Given the description of an element on the screen output the (x, y) to click on. 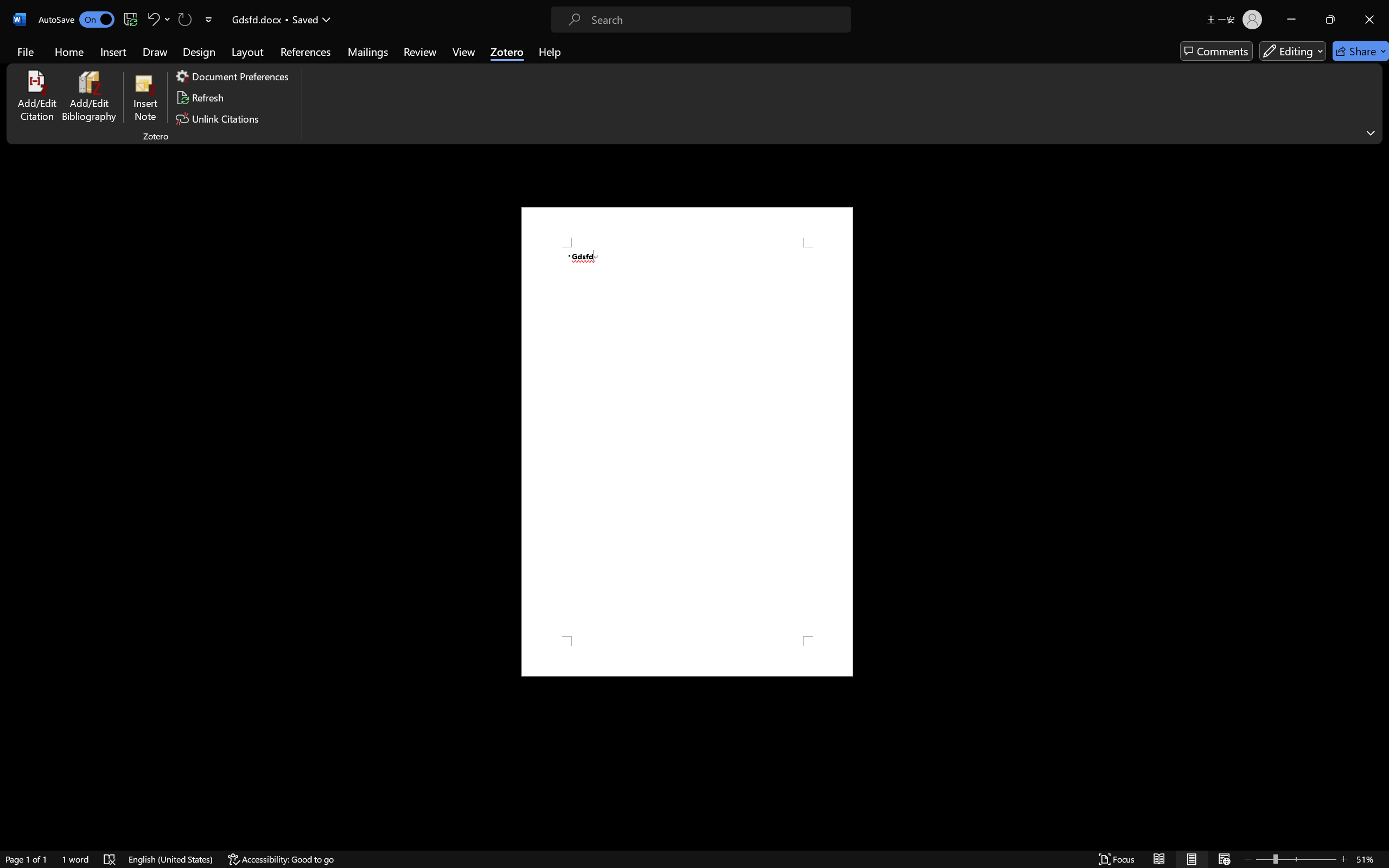
Page 1 content (686, 441)
